Given the description of an element on the screen output the (x, y) to click on. 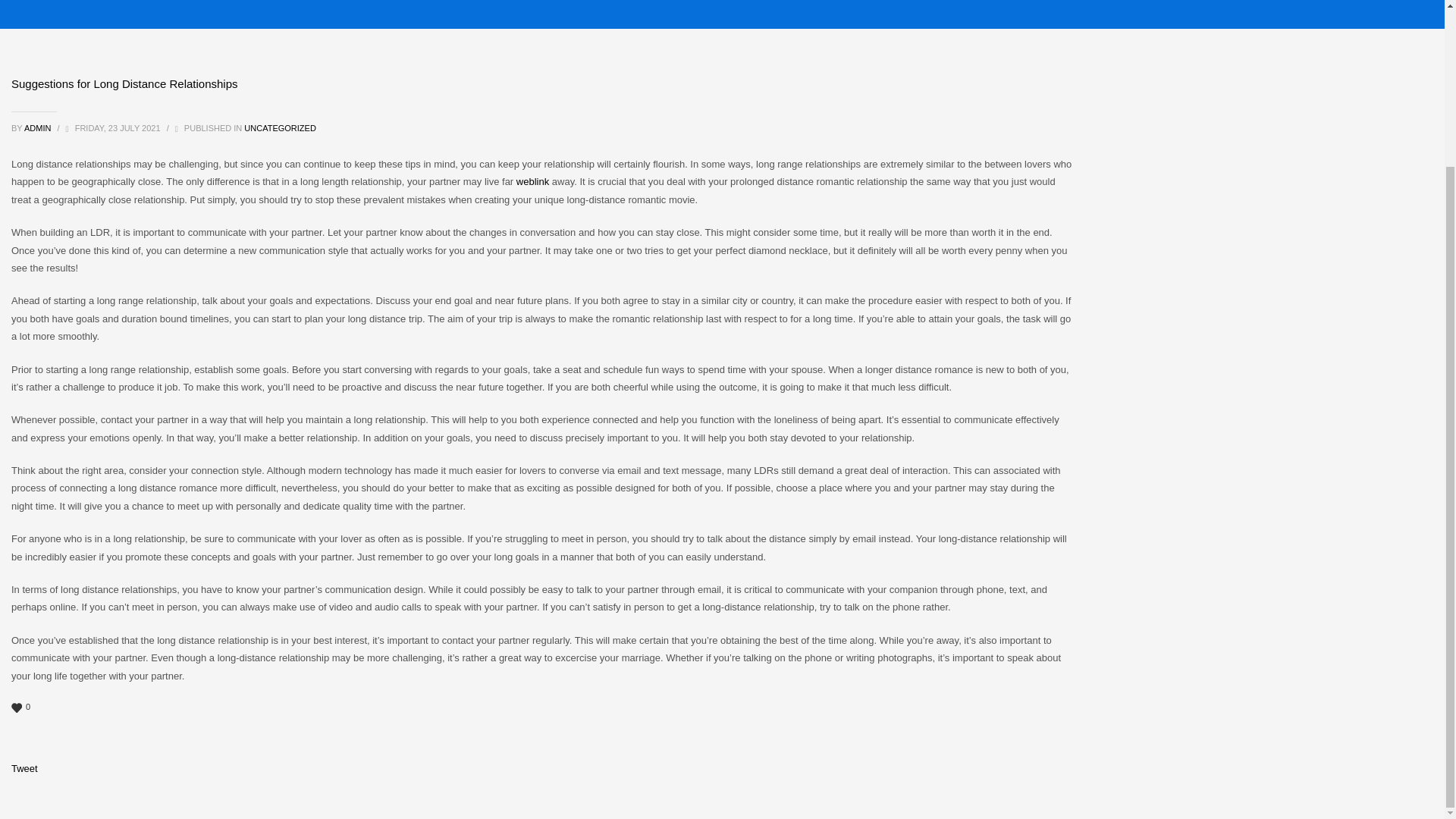
weblink (532, 181)
Tweet (24, 767)
UNCATEGORIZED (279, 127)
ADMIN (38, 127)
0 (541, 707)
